Given the description of an element on the screen output the (x, y) to click on. 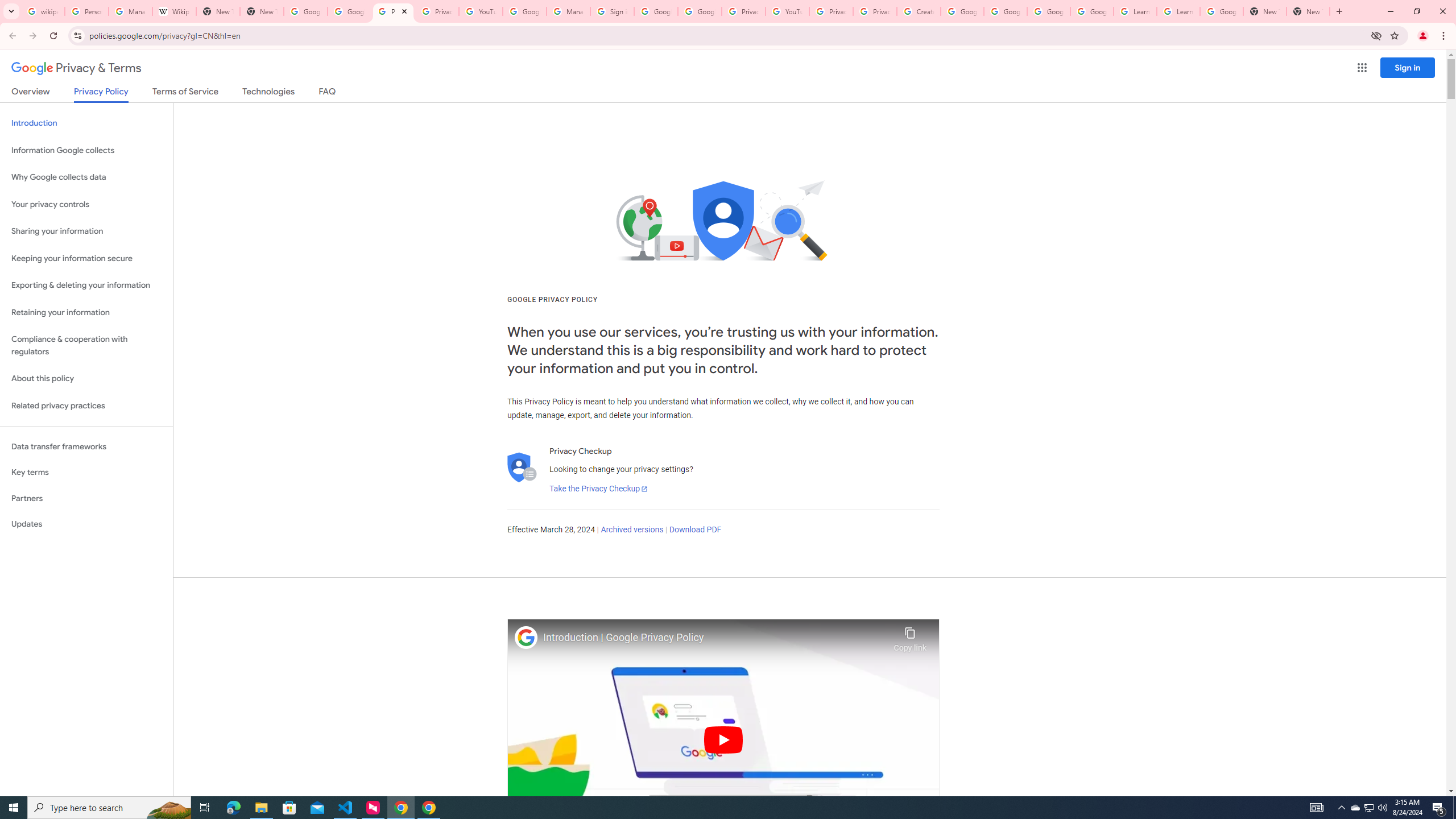
Sign in - Google Accounts (612, 11)
New Tab (1308, 11)
Photo image of Google (526, 636)
New Tab (261, 11)
Google Drive: Sign-in (349, 11)
